Given the description of an element on the screen output the (x, y) to click on. 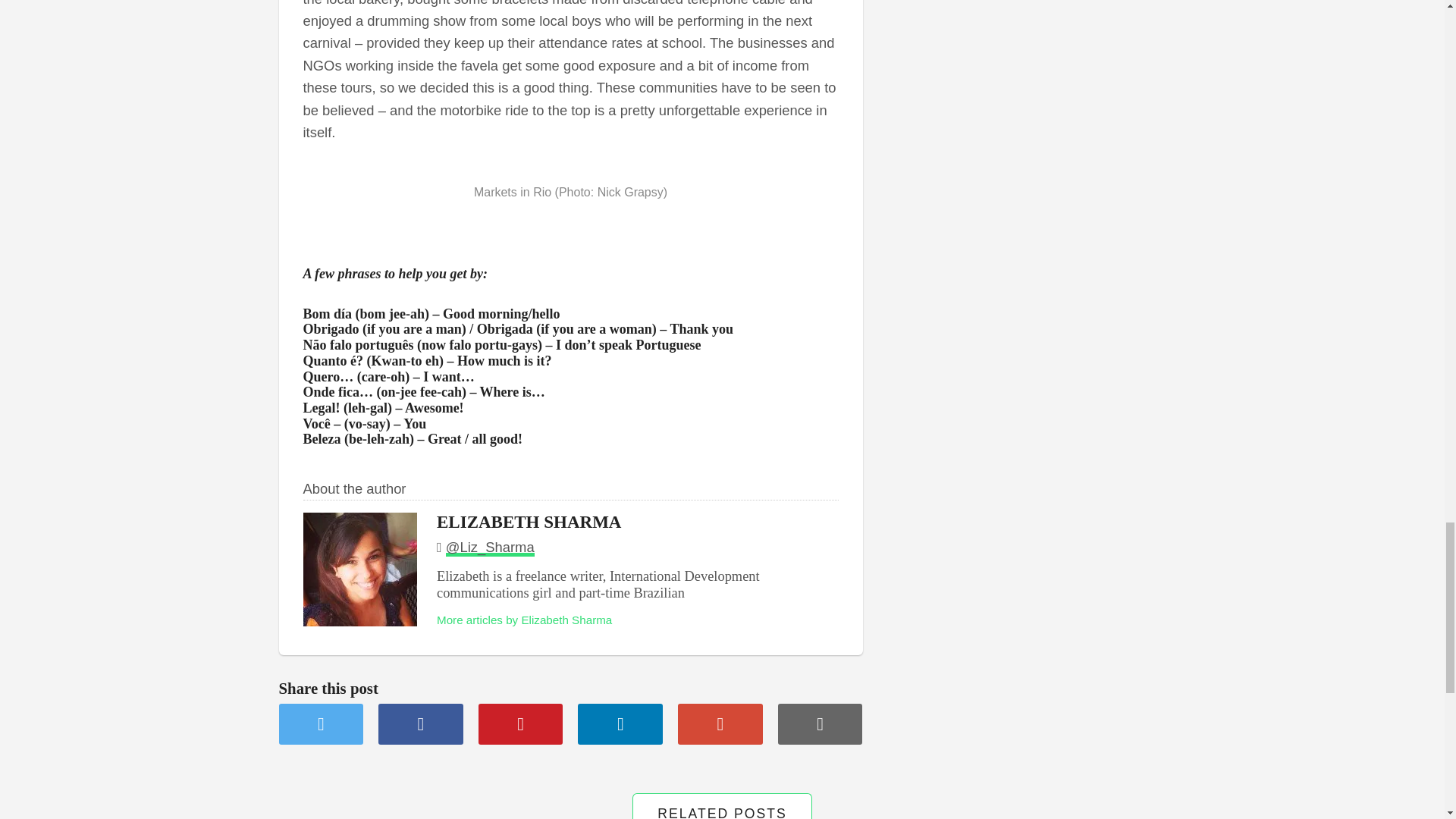
How to rock Rio like a local (321, 723)
How to rock Rio like a local (620, 723)
How to rock Rio like a local (720, 723)
More articles by Elizabeth Sharma (523, 620)
How to rock Rio like a local (820, 723)
How to rock Rio like a local (420, 723)
